Given the description of an element on the screen output the (x, y) to click on. 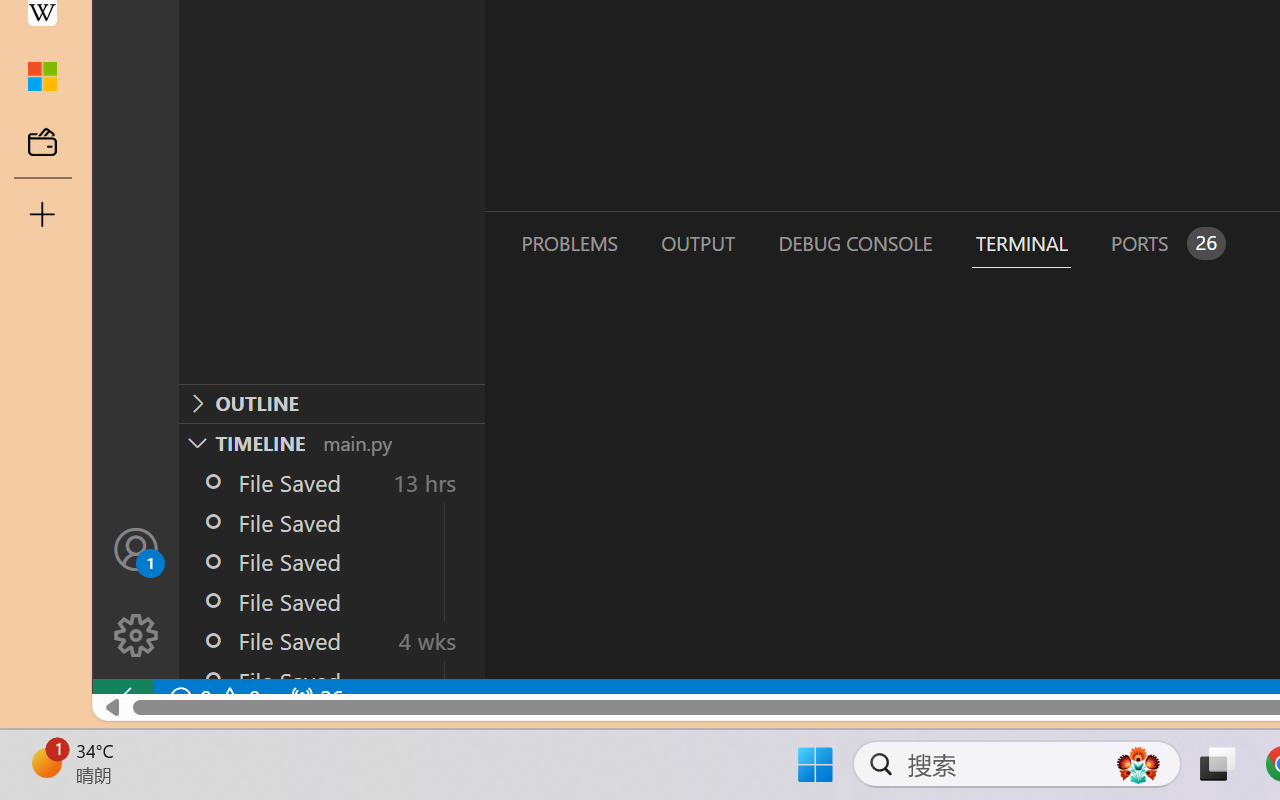
Accounts - Sign in requested (135, 548)
remote (122, 698)
Problems (Ctrl+Shift+M) (567, 243)
Ports - 26 forwarded ports (1165, 243)
